Given the description of an element on the screen output the (x, y) to click on. 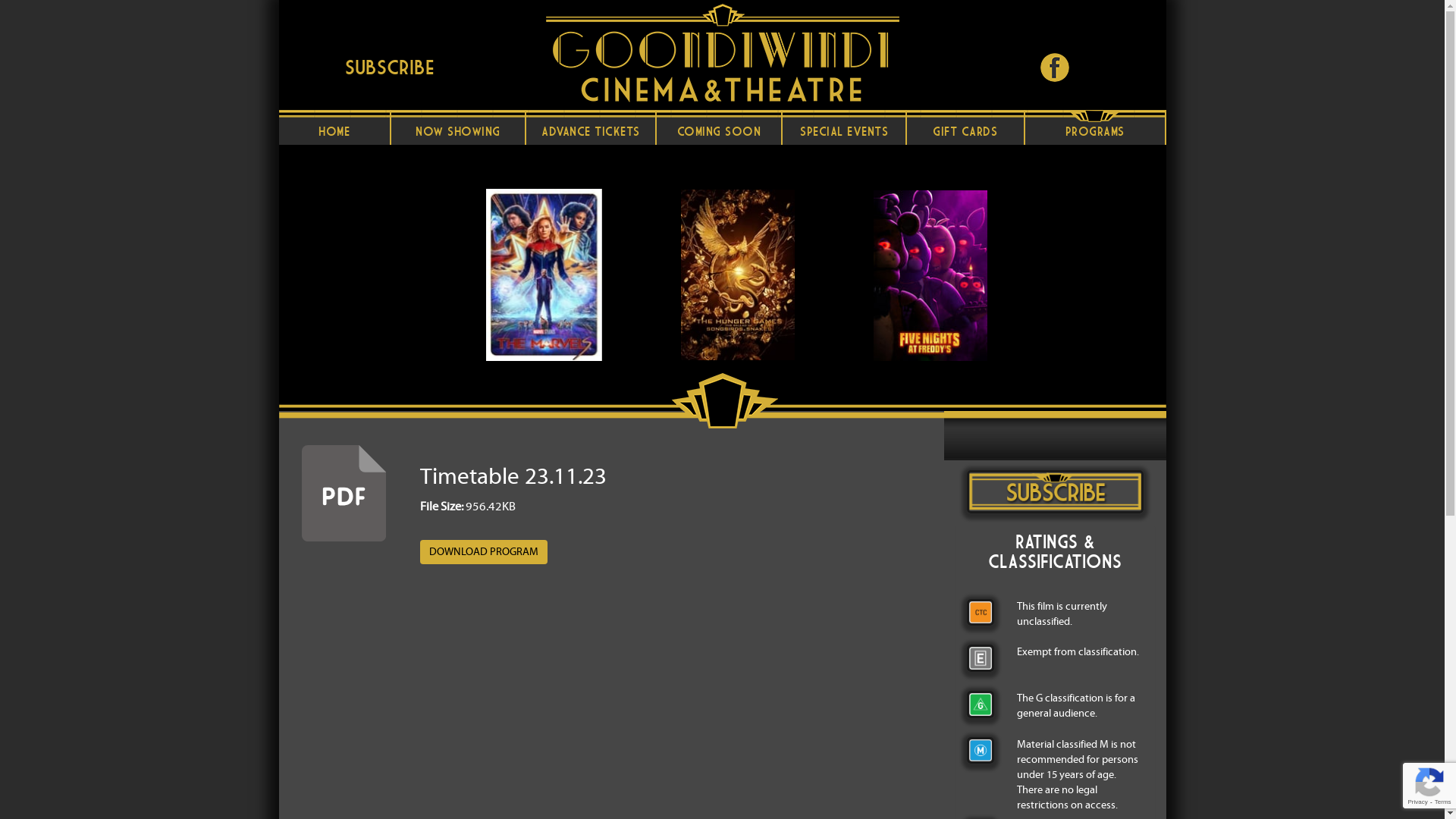
DOWNLOAD PROGRAM Element type: text (483, 551)
SPECIAL EVENTS Element type: text (844, 126)
PROGRAMS Element type: text (1095, 126)
GIFT CARDS Element type: text (965, 126)
HOME Element type: text (335, 126)
NOW SHOWING Element type: text (458, 126)
COMING SOON Element type: text (719, 126)
Timetable 23.11.23 Element type: text (513, 476)
Subscribe Element type: text (389, 66)
ADVANCE TICKETS Element type: text (591, 126)
